Given the description of an element on the screen output the (x, y) to click on. 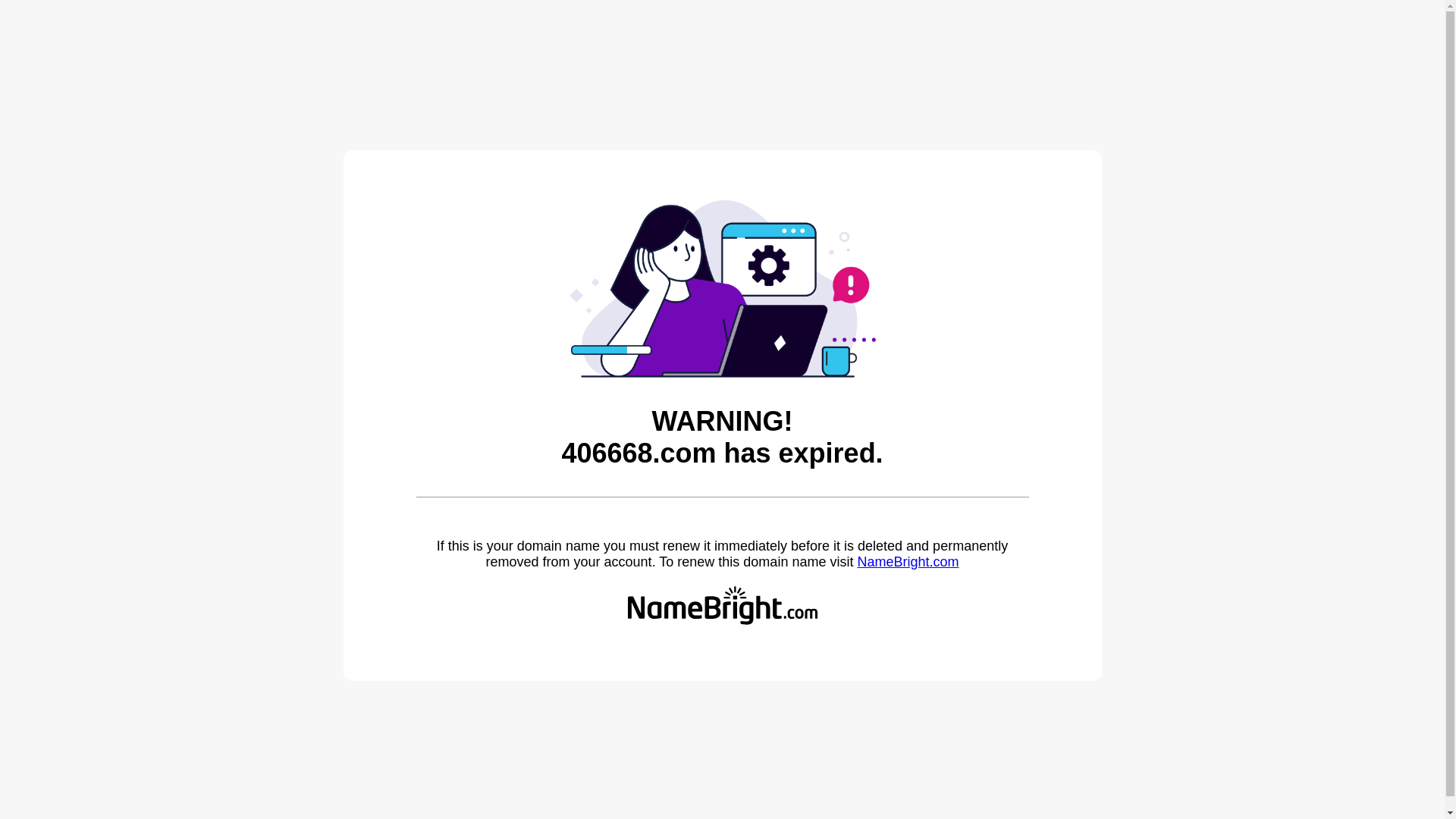
NameBright.com Element type: text (907, 561)
